Given the description of an element on the screen output the (x, y) to click on. 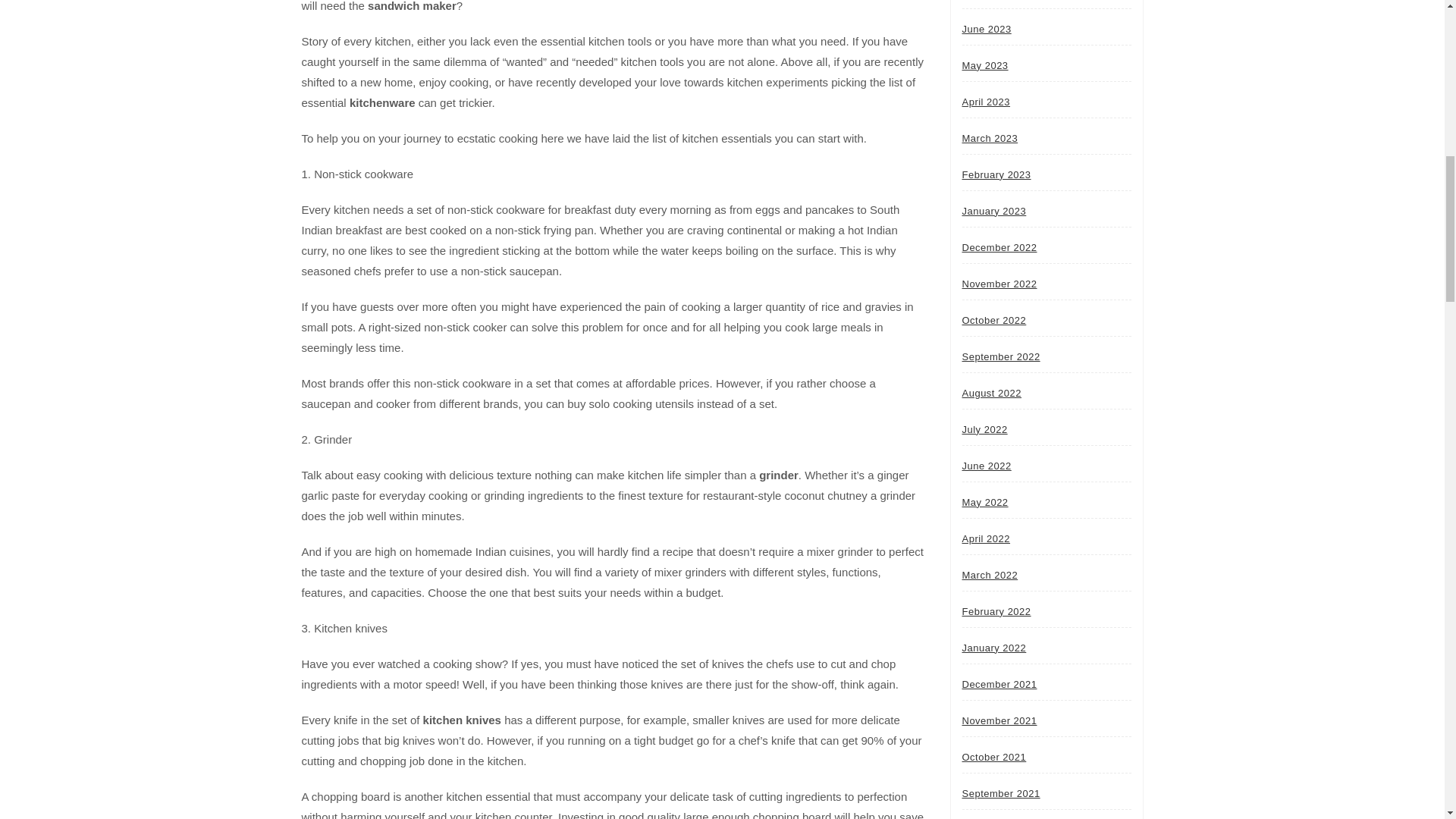
July 2023 (983, 3)
May 2023 (983, 64)
June 2023 (985, 28)
